Given the description of an element on the screen output the (x, y) to click on. 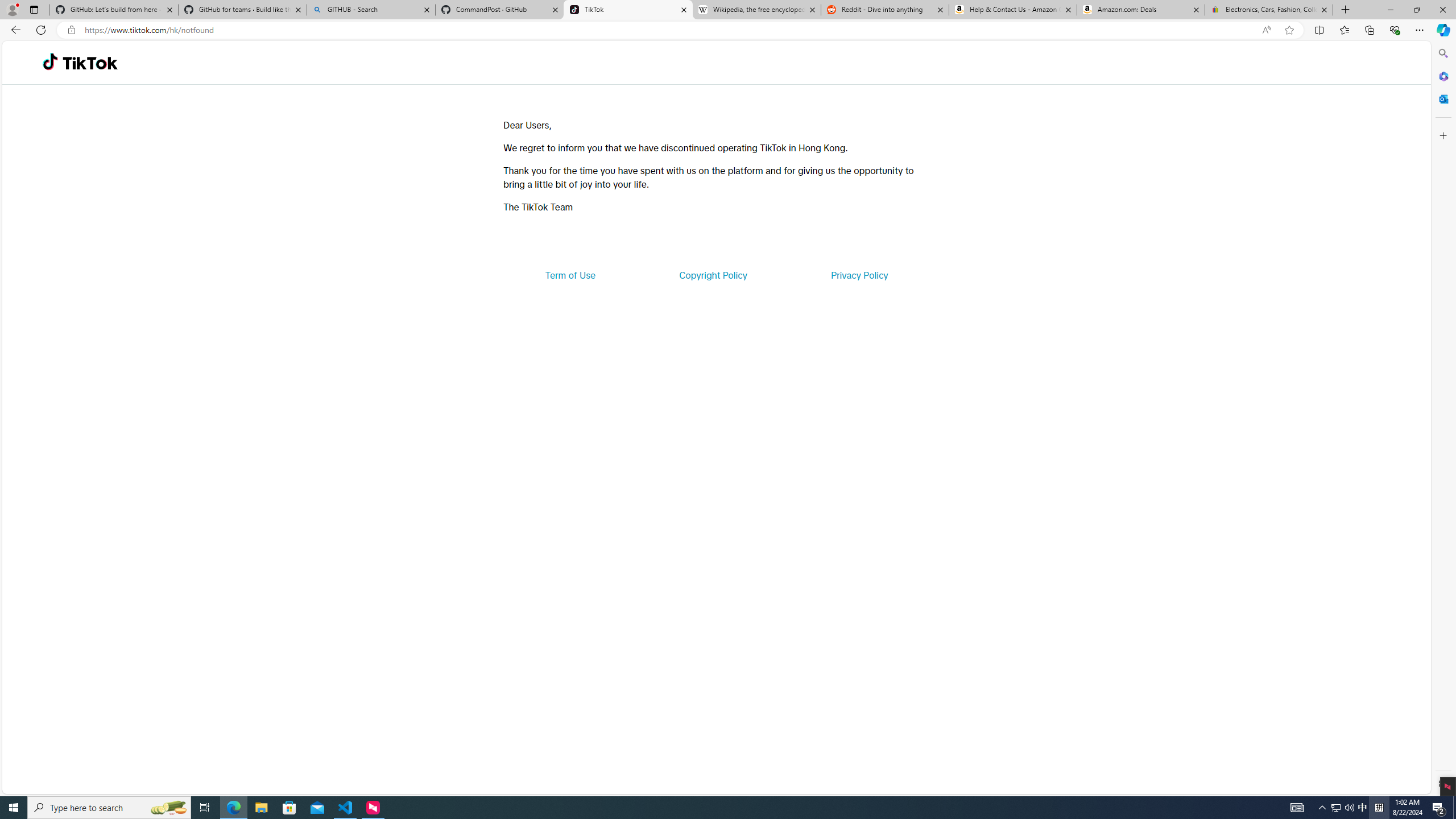
Amazon.com: Deals (1140, 9)
Privacy Policy (858, 274)
GITHUB - Search (370, 9)
